Given the description of an element on the screen output the (x, y) to click on. 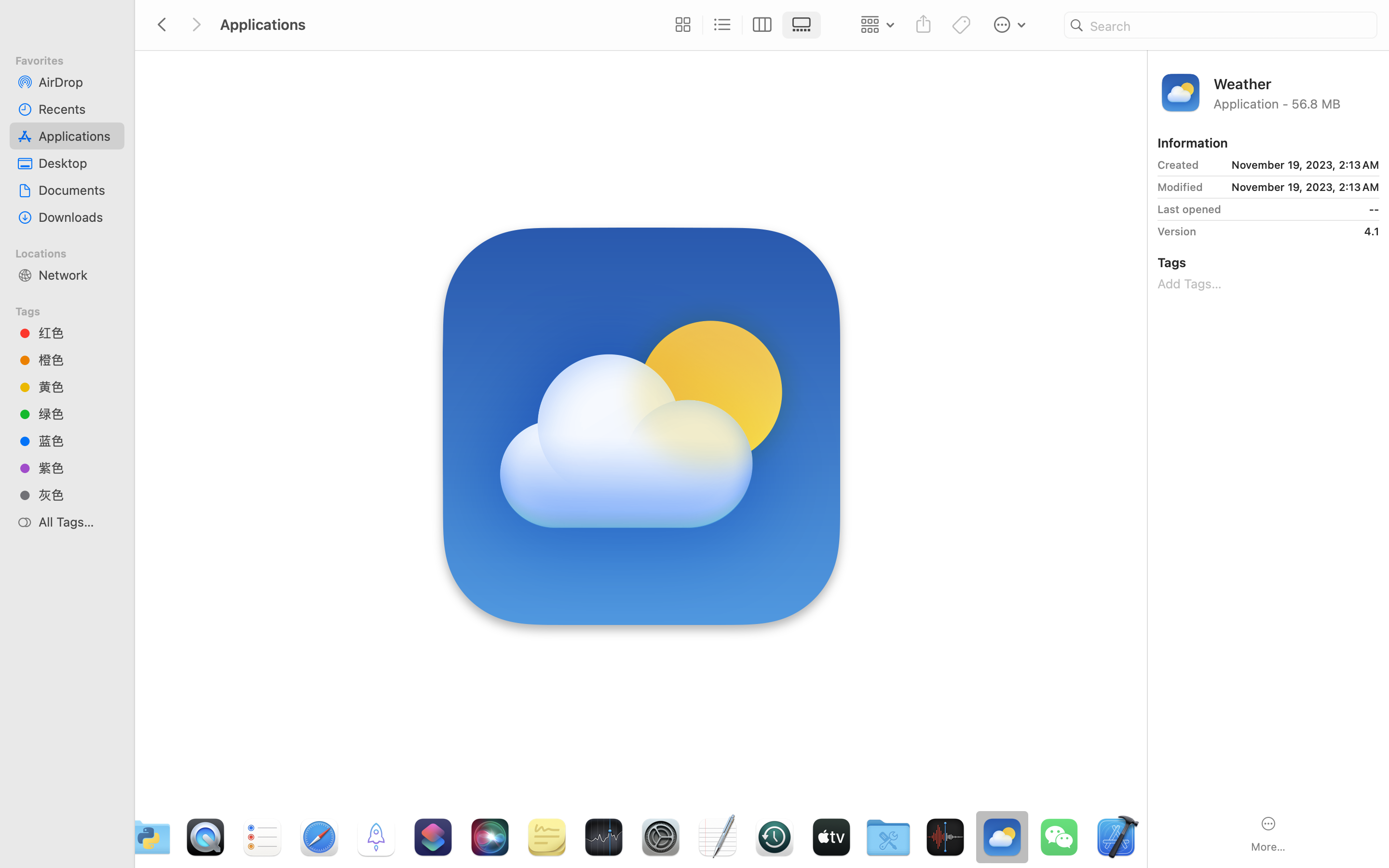
灰色 Element type: AXStaticText (77, 494)
红色 Element type: AXStaticText (77, 332)
